Given the description of an element on the screen output the (x, y) to click on. 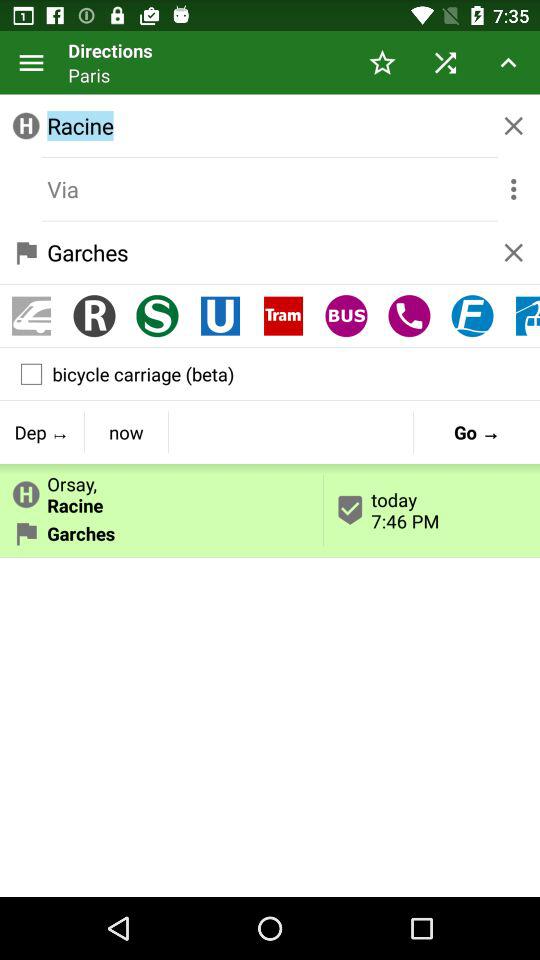
press bicycle carriage (beta) checkbox (269, 374)
